Given the description of an element on the screen output the (x, y) to click on. 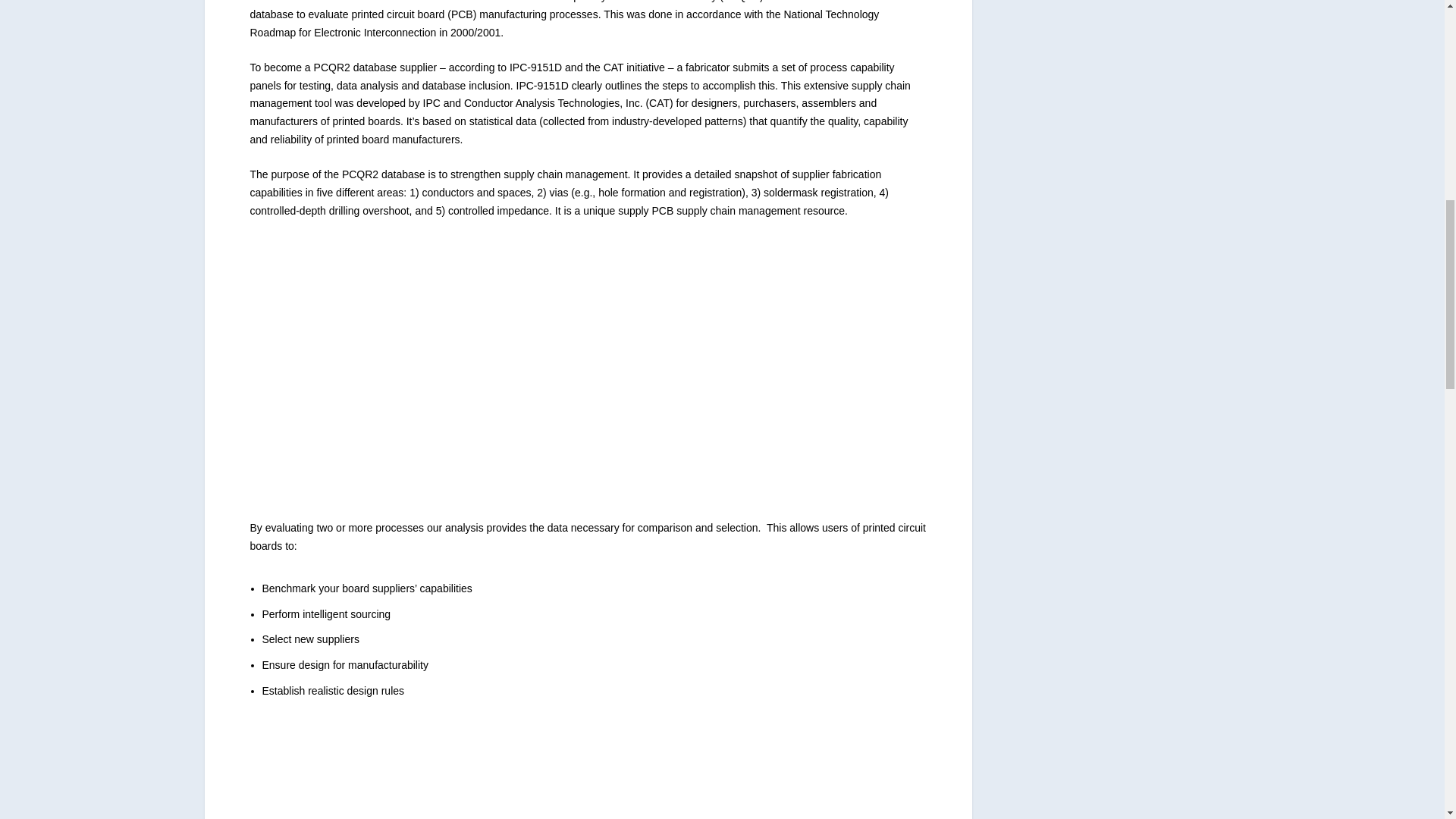
amark (491, 436)
amark (470, 764)
amark (488, 295)
